Given the description of an element on the screen output the (x, y) to click on. 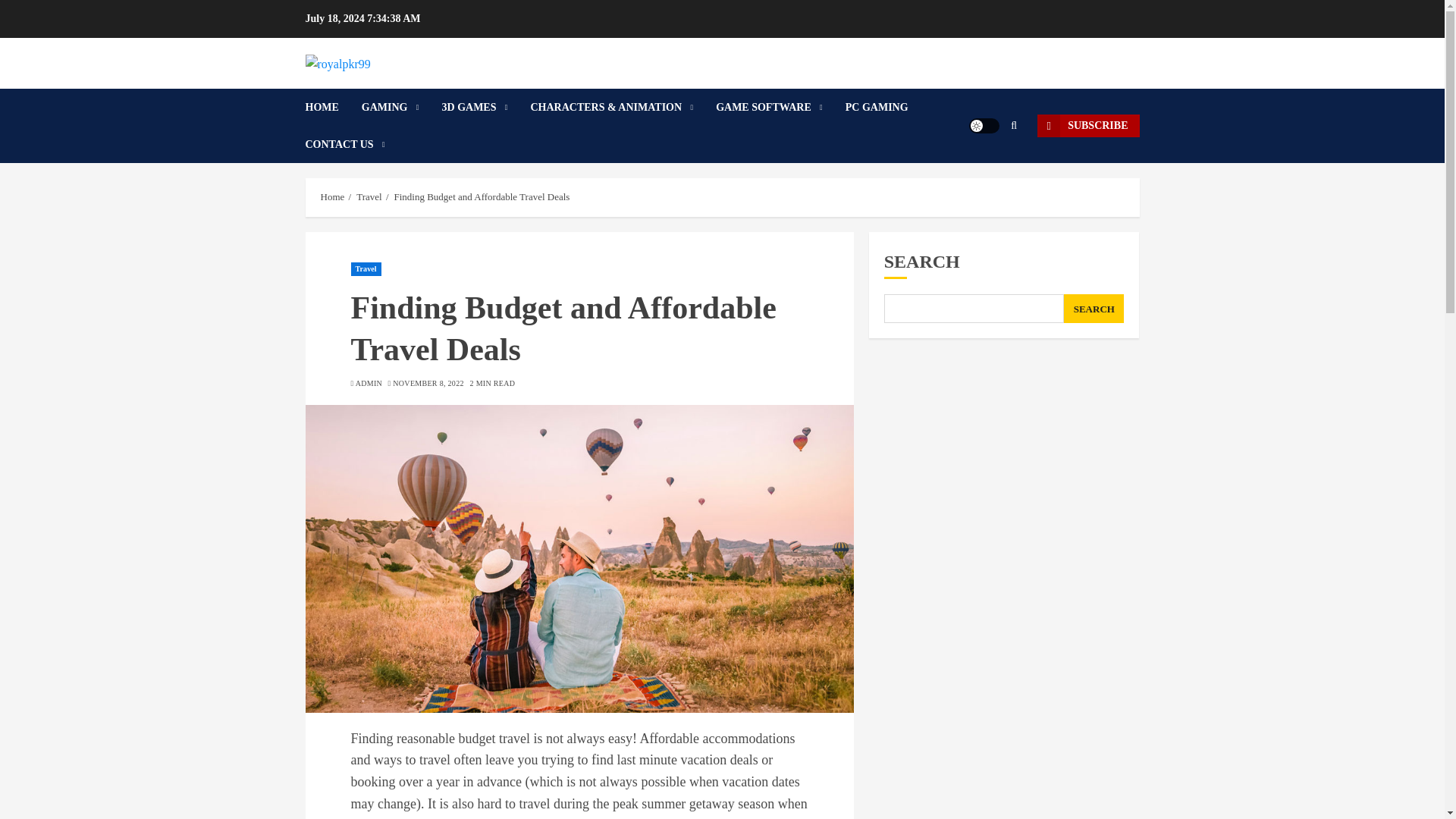
3D GAMES (486, 107)
Search (990, 172)
SUBSCRIBE (1087, 125)
NOVEMBER 8, 2022 (428, 383)
ADMIN (368, 383)
Finding Budget and Affordable Travel Deals (482, 196)
Travel (365, 269)
CONTACT US (344, 144)
Home (331, 196)
Travel (368, 196)
HOME (332, 107)
GAME SOFTWARE (780, 107)
GAMING (401, 107)
PC GAMING (888, 107)
